Given the description of an element on the screen output the (x, y) to click on. 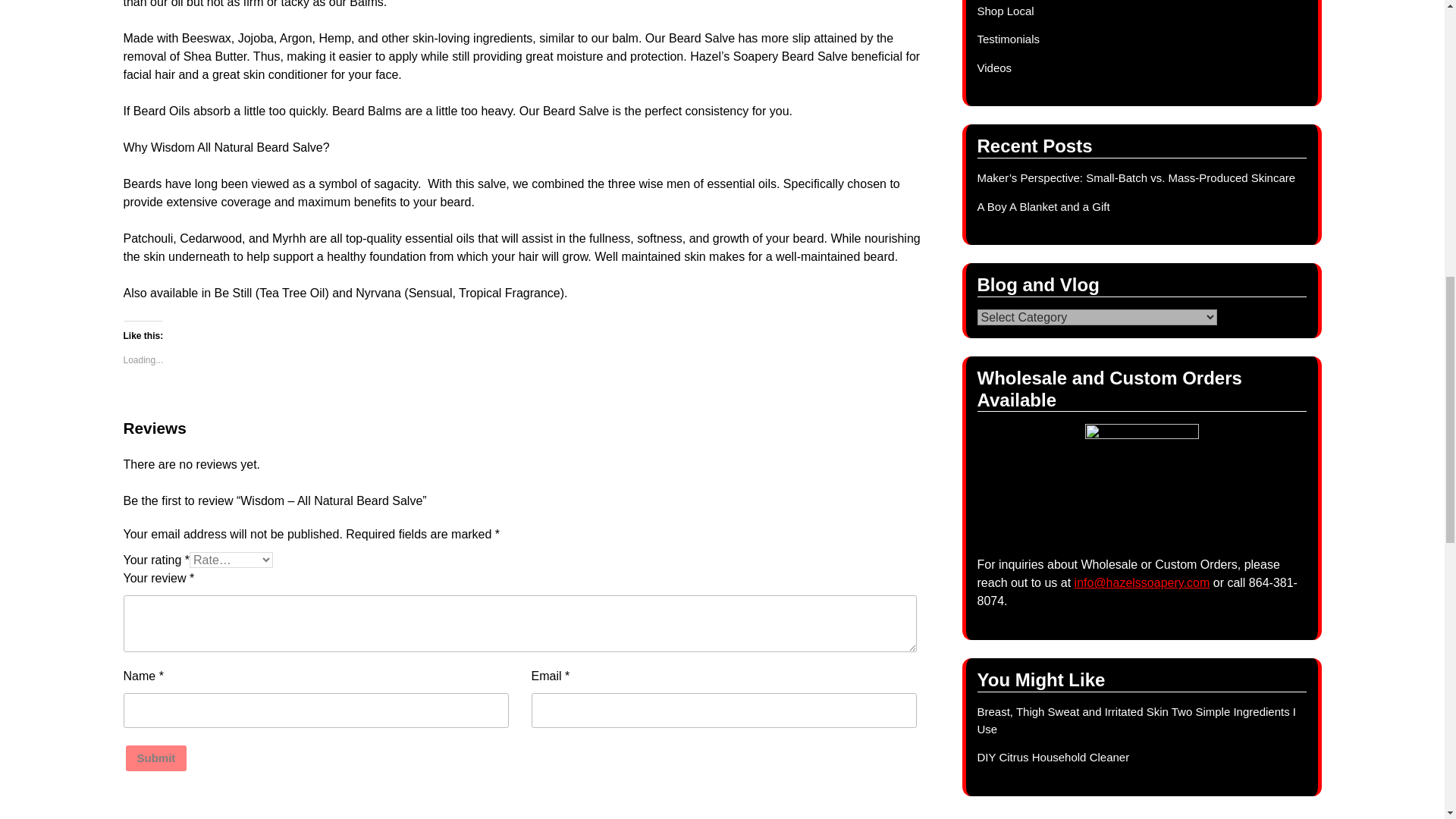
Submit (156, 758)
